Given the description of an element on the screen output the (x, y) to click on. 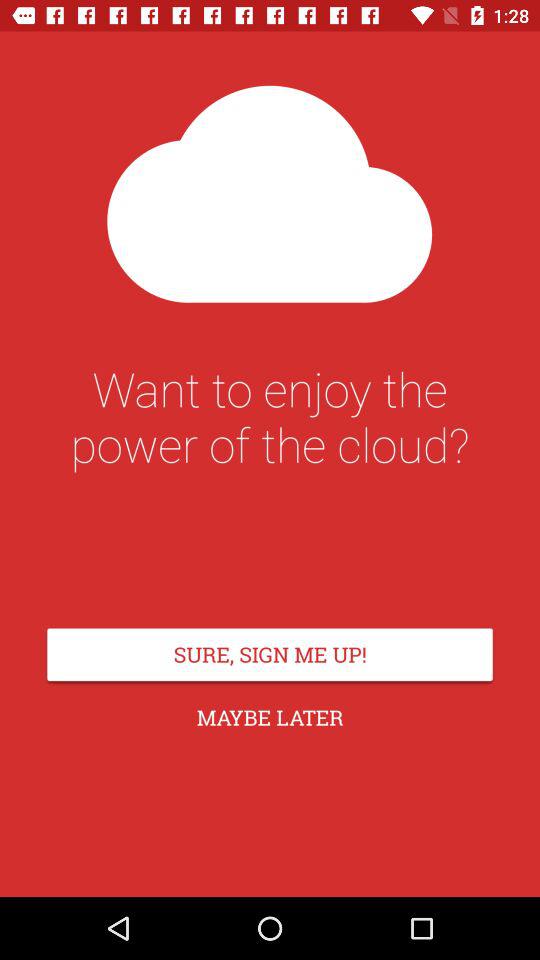
click the sure sign me icon (269, 654)
